Given the description of an element on the screen output the (x, y) to click on. 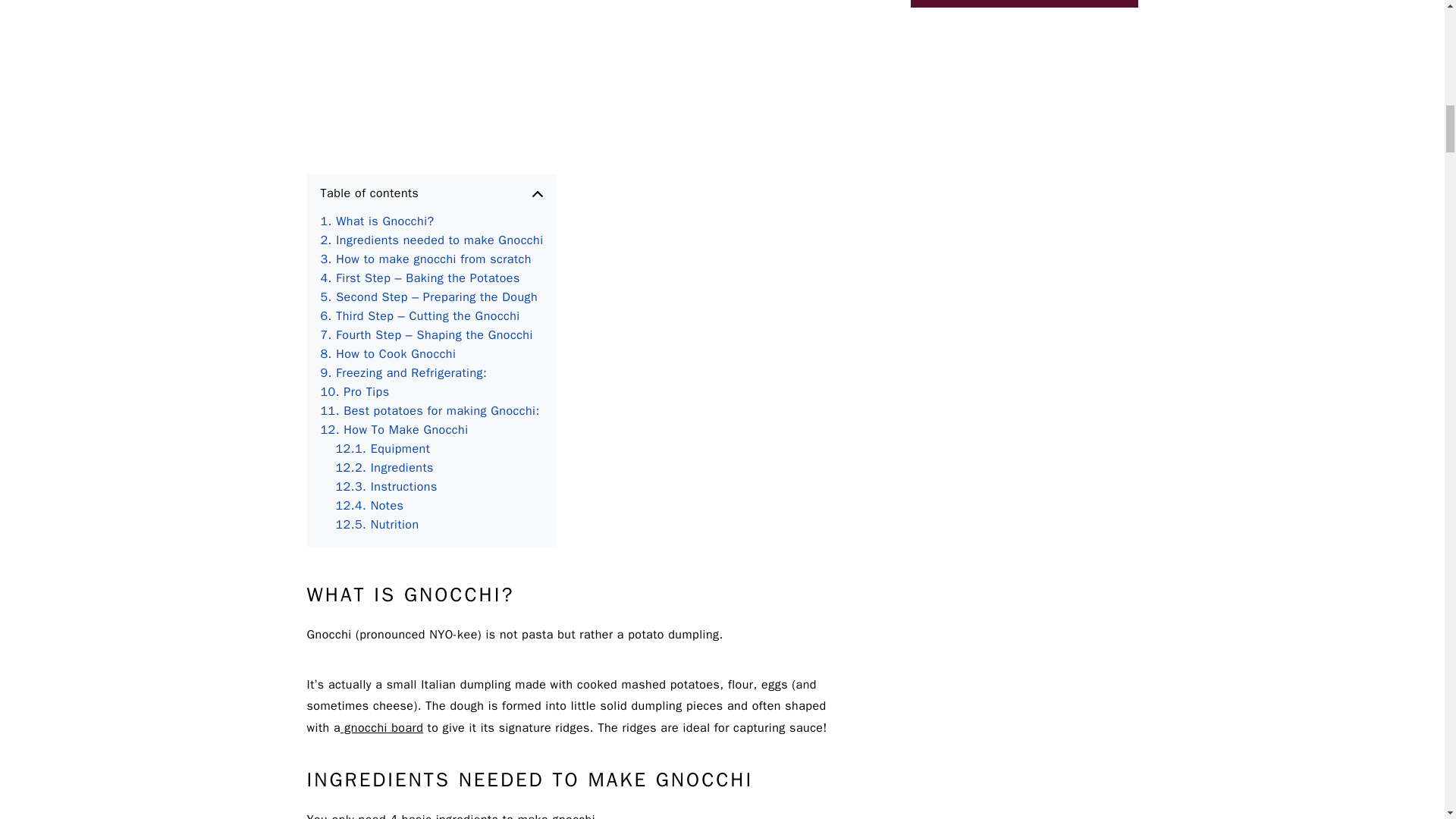
What is Gnocchi? (376, 221)
Best potatoes for making Gnocchi: (429, 411)
How to make gnocchi from scratch (425, 259)
How To Make Gnocchi (393, 429)
Equipment (381, 448)
Ingredients needed to make Gnocchi (431, 240)
Pro Tips (354, 392)
Ingredients (383, 467)
Freezing and Refrigerating: (403, 373)
How to Cook Gnocchi (387, 353)
